Given the description of an element on the screen output the (x, y) to click on. 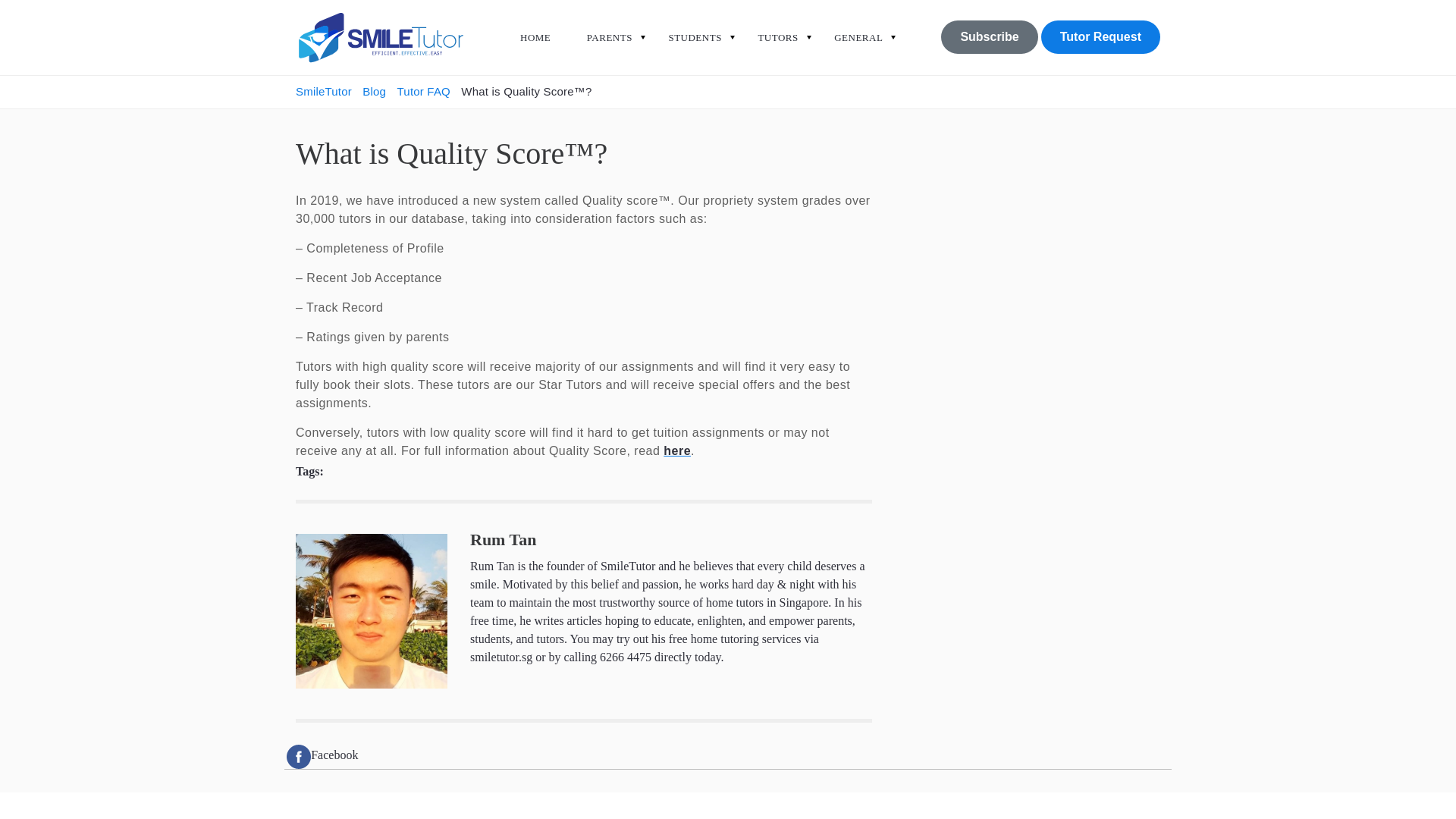
GENERAL (858, 42)
PARENTS (608, 42)
TUTORS (777, 42)
Go to SmileTutor. (325, 91)
HOME (534, 42)
Go to SmileTutor. (371, 91)
Go to Tutor FAQ. (423, 91)
STUDENTS (694, 42)
